Given the description of an element on the screen output the (x, y) to click on. 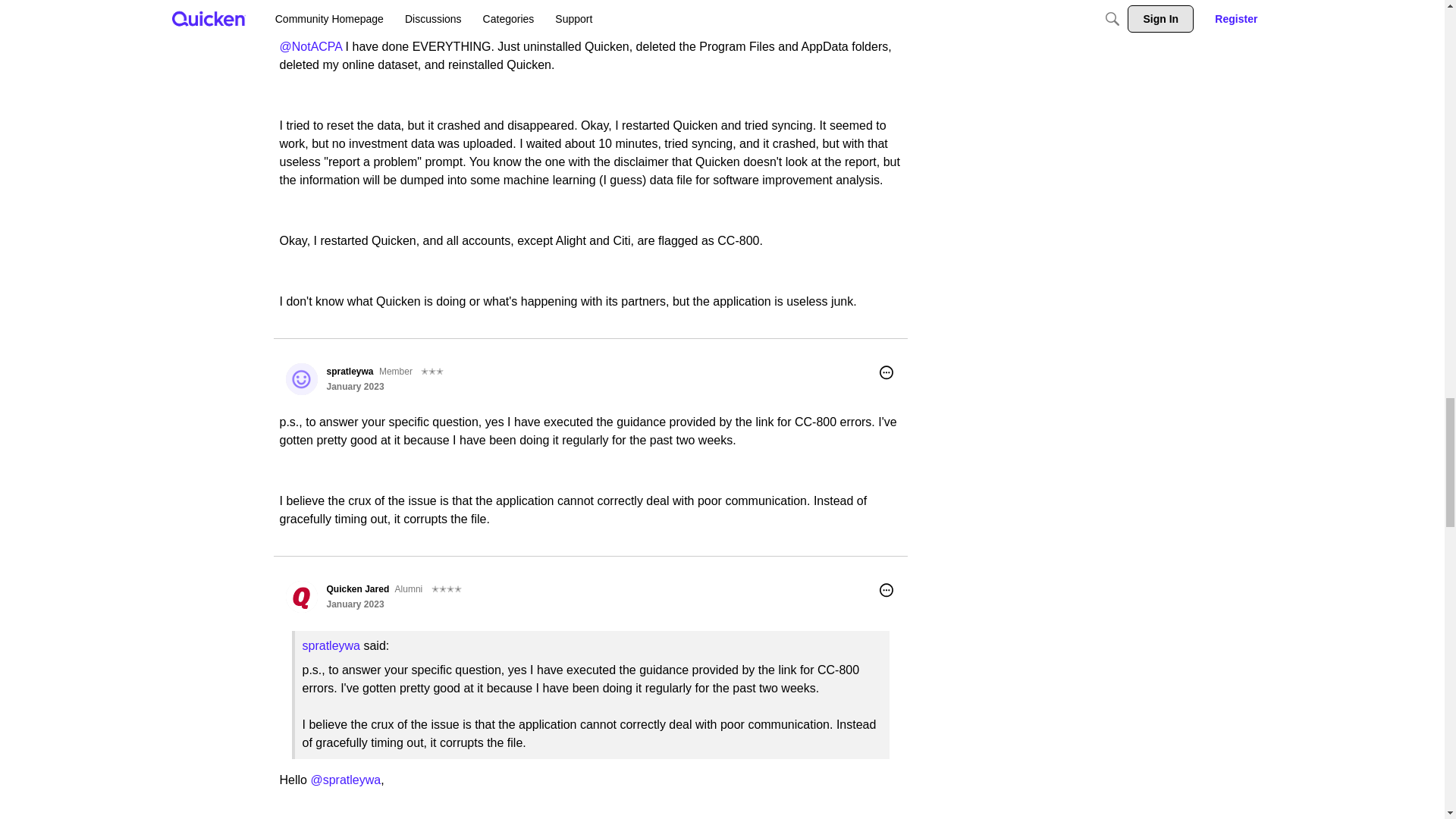
January 2023 (355, 10)
spratleywa (349, 0)
